Given the description of an element on the screen output the (x, y) to click on. 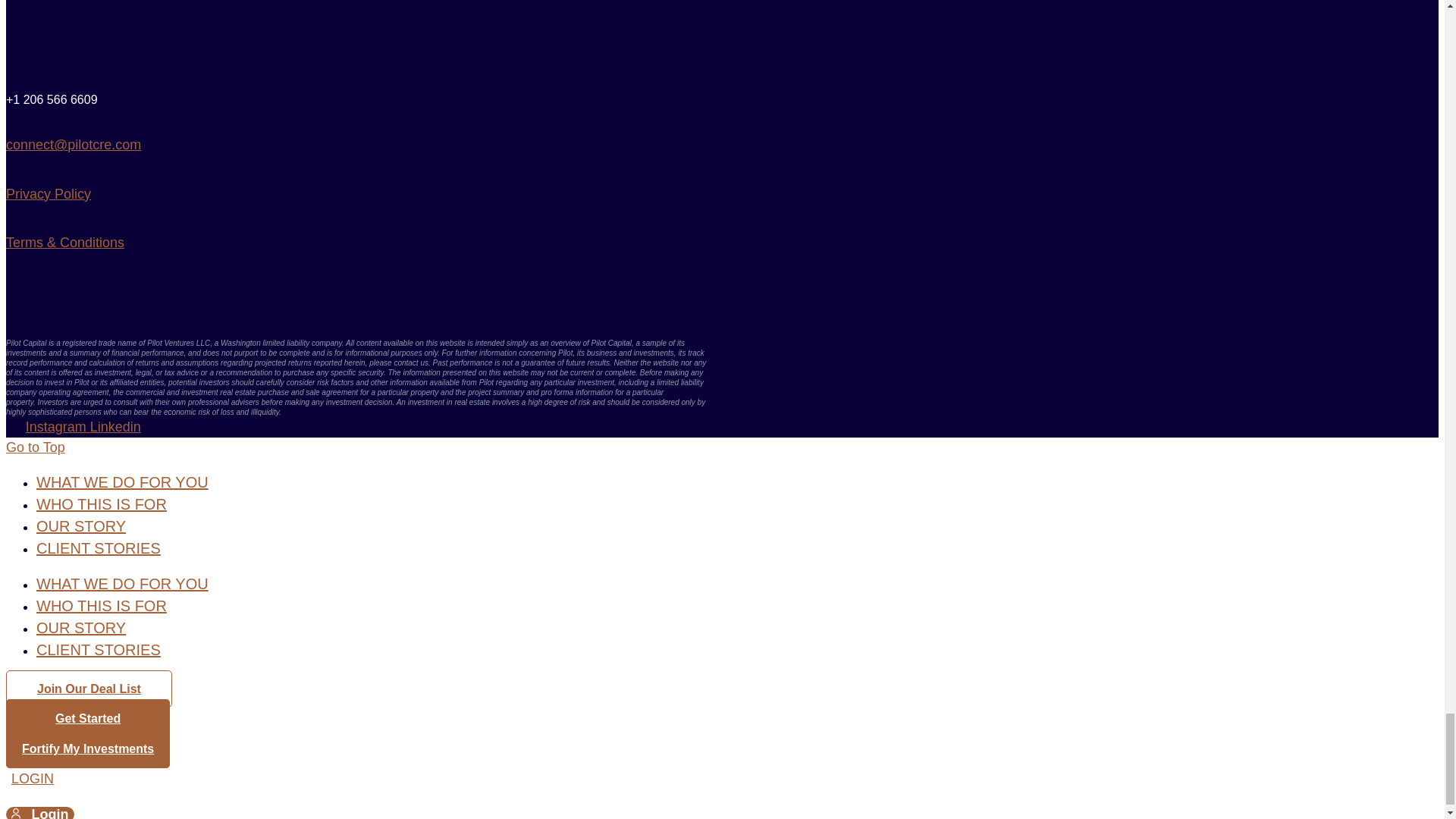
Scroll to top (35, 447)
Go to Top (35, 447)
Go to Top (35, 447)
Instagram (58, 426)
Go to Top (35, 447)
Privacy Policy (47, 193)
Linkedin (115, 426)
